Given the description of an element on the screen output the (x, y) to click on. 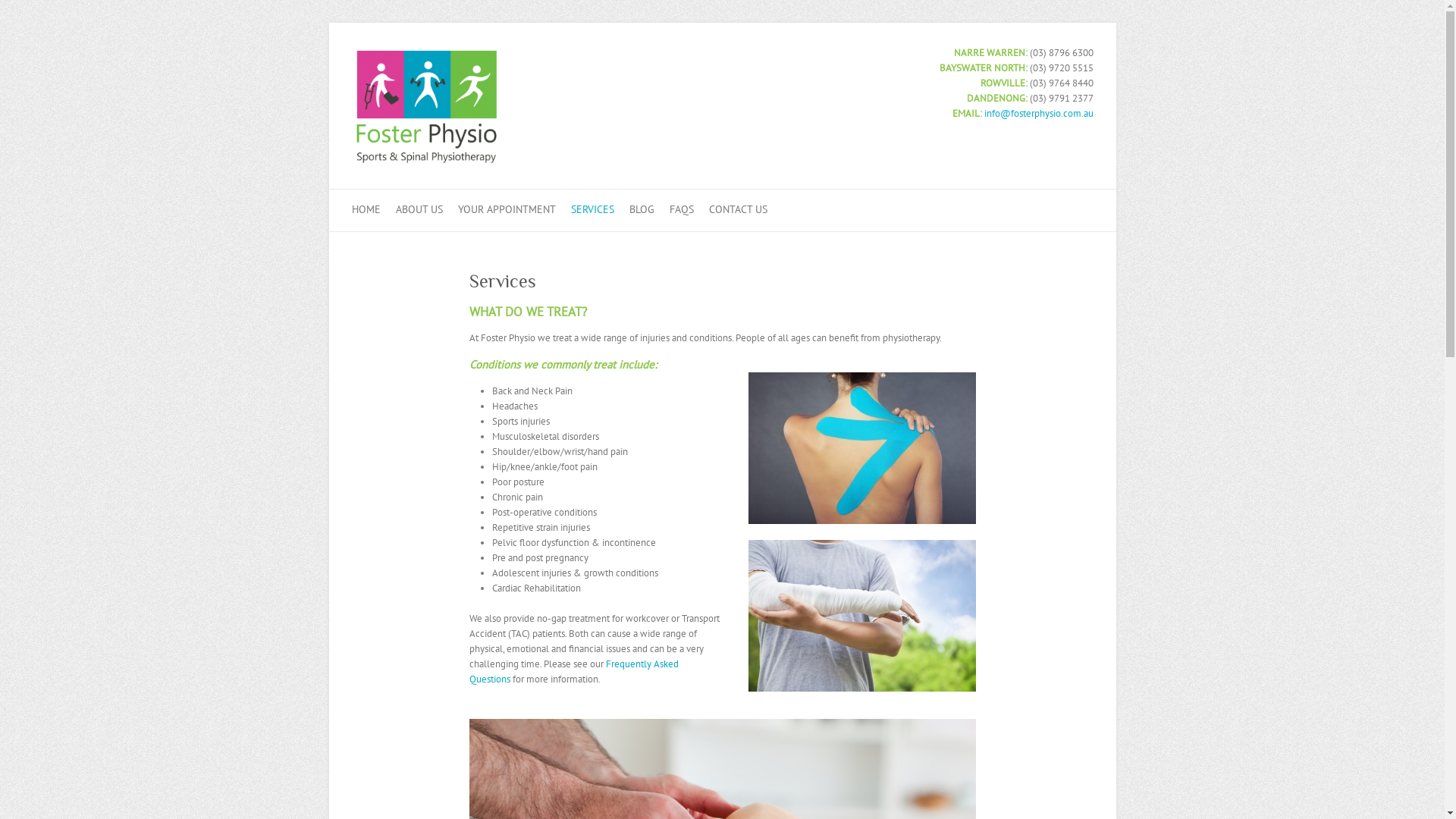
Frequently Asked Questions Element type: text (572, 671)
info@fosterphysio.com.au Element type: text (1038, 112)
FAQS Element type: text (680, 210)
YOUR APPOINTMENT Element type: text (506, 210)
SERVICES Element type: text (591, 210)
Foster Physio Element type: hover (426, 157)
BLOG Element type: text (641, 210)
ABOUT US Element type: text (418, 210)
CONTACT US Element type: text (737, 210)
HOME Element type: text (365, 210)
